Given the description of an element on the screen output the (x, y) to click on. 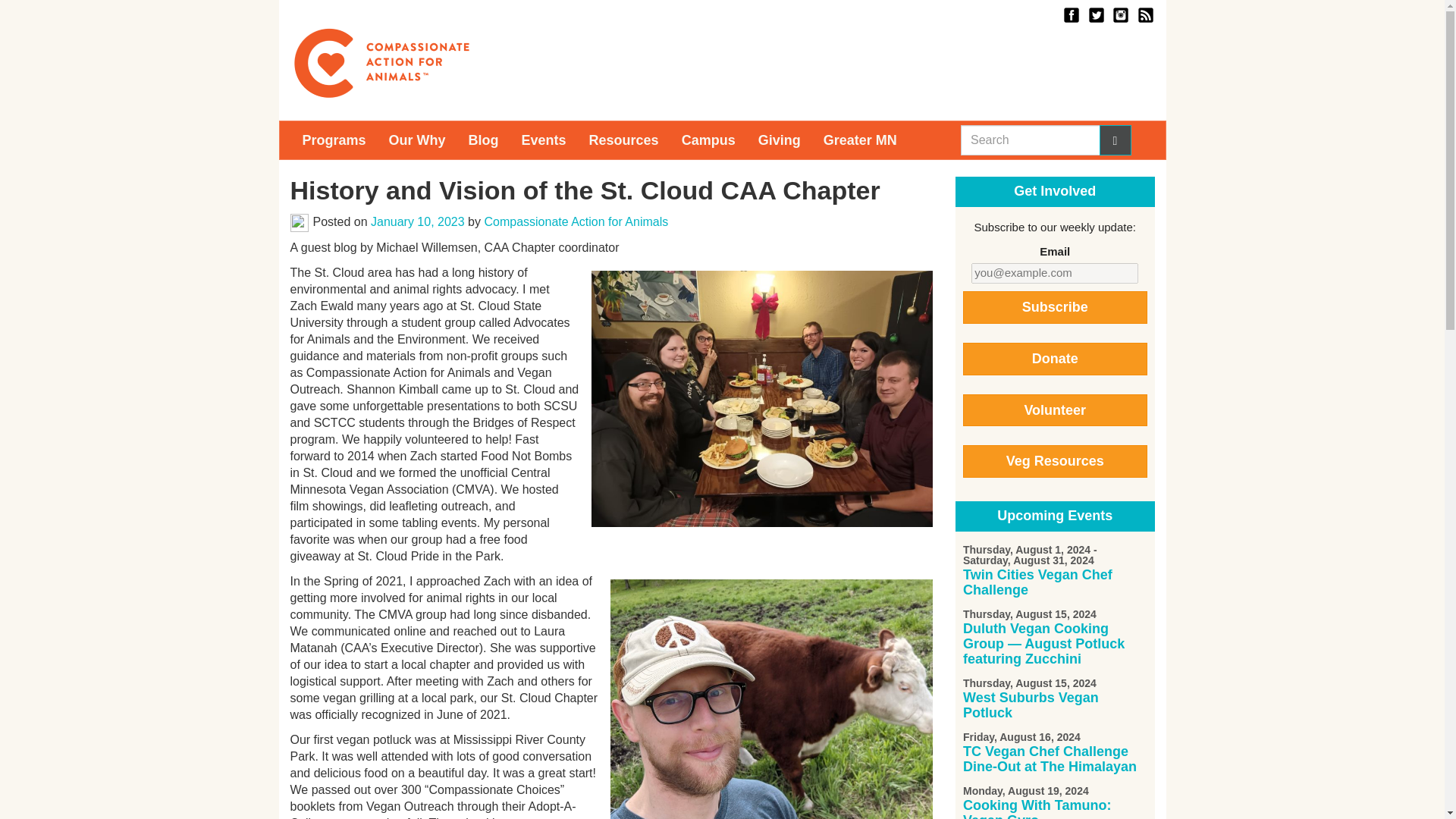
Twin Cities Vegan Chef Challenge (1037, 582)
Resources (623, 139)
Veg Resources (1054, 461)
Follow us on Twitter (1094, 13)
Programs (334, 139)
Events (544, 139)
2:37 pm (417, 221)
View all posts by Compassionate Action for Animals (575, 221)
January 10, 2023 (417, 221)
Cooking With Tamuno: Vegan Gyro (1036, 808)
